Given the description of an element on the screen output the (x, y) to click on. 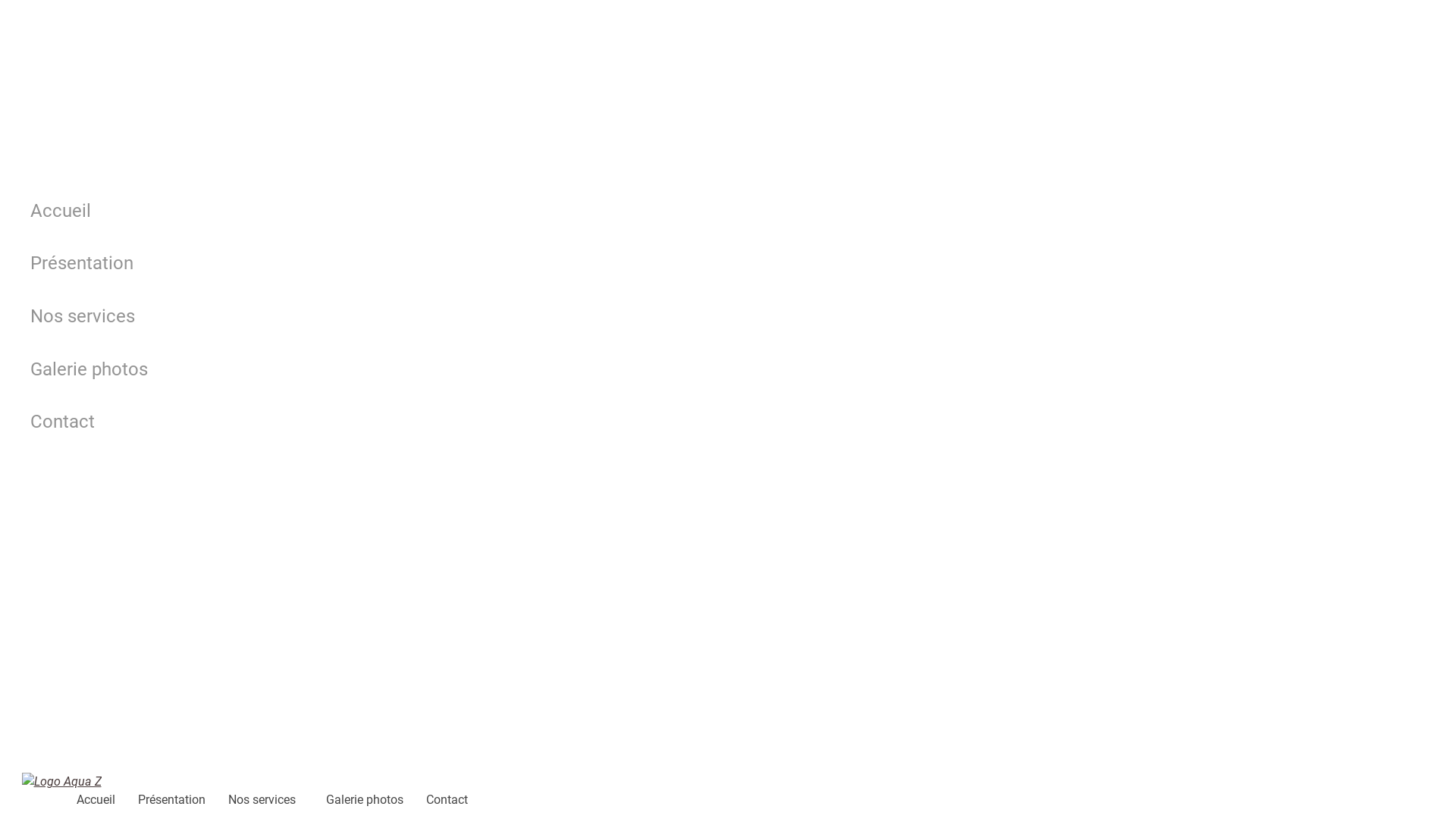
Contact Element type: text (435, 799)
Nos services Element type: text (254, 799)
Galerie photos Element type: text (353, 799)
Accueil Element type: text (386, 210)
Contact Element type: text (386, 421)
Galerie photos Element type: text (386, 368)
Nos services Element type: text (386, 315)
Accueil Element type: text (84, 799)
